Given the description of an element on the screen output the (x, y) to click on. 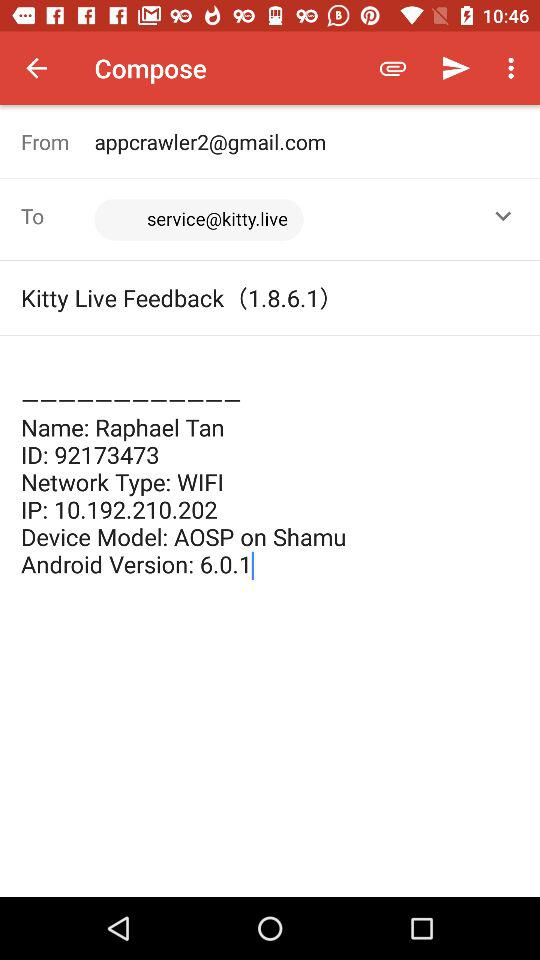
swipe until name raphael tan (270, 468)
